Given the description of an element on the screen output the (x, y) to click on. 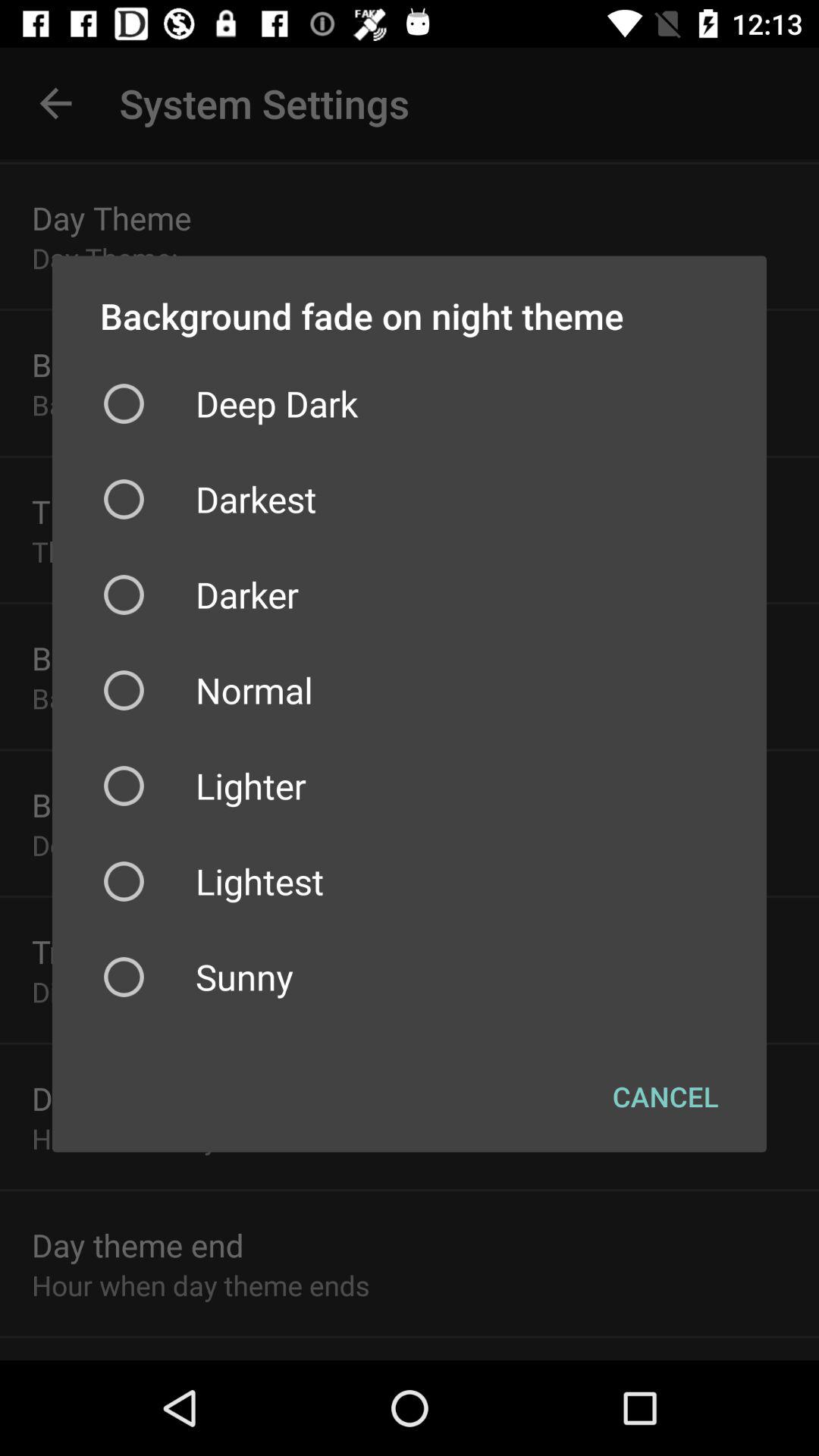
open the icon below the sunny checkbox (665, 1096)
